Given the description of an element on the screen output the (x, y) to click on. 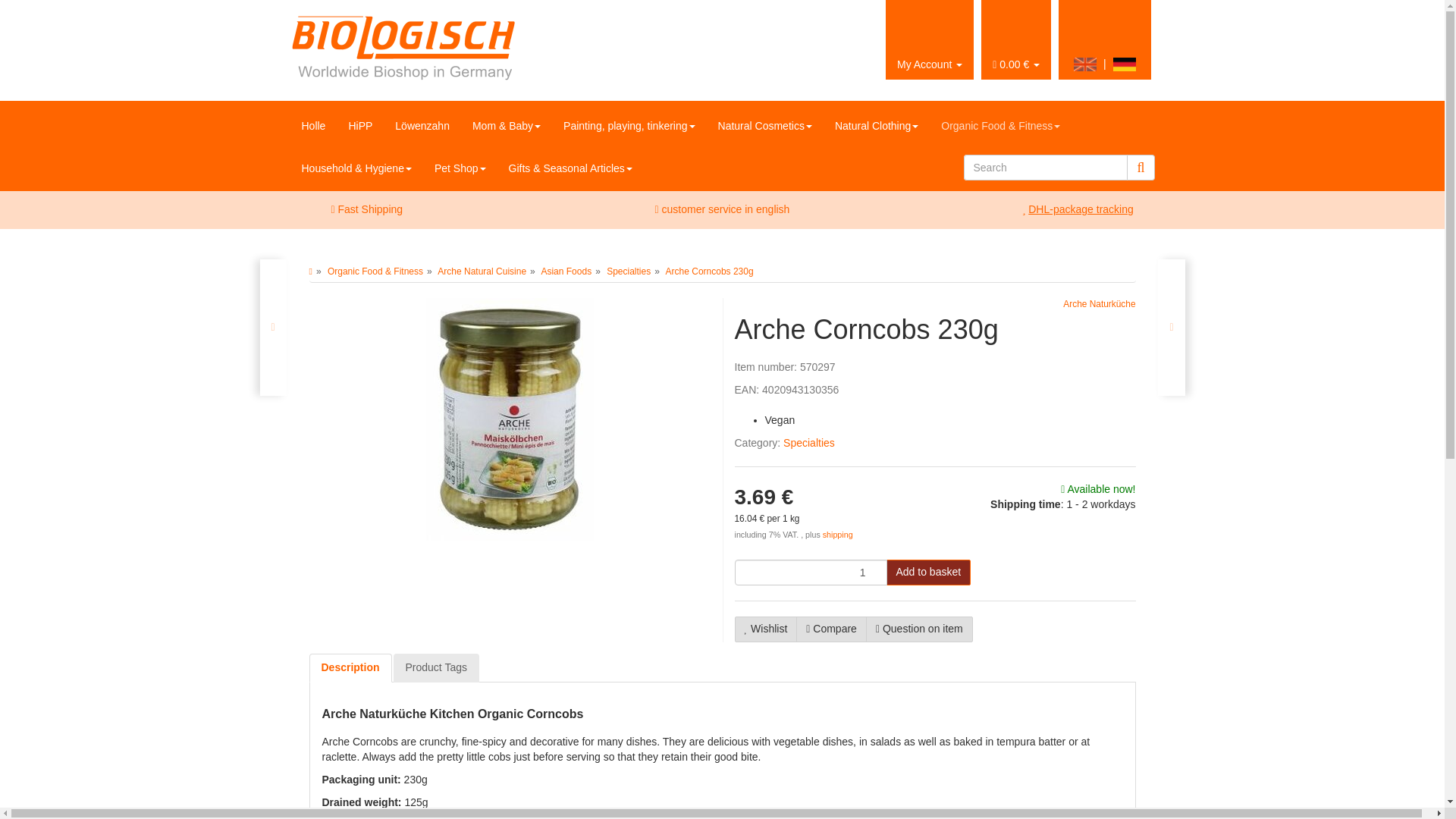
HiPP (360, 125)
Arche Tamari Cracker 80g (272, 327)
Arche Corncobs 230g (709, 271)
Asian Foods (565, 271)
1 (809, 572)
Arche Bamboo Shoots 350g (1171, 327)
Start (310, 271)
My Account (929, 39)
Basket (1016, 39)
Specialties (628, 271)
Biologisch24.com (499, 47)
Holle (312, 125)
Arche Natural Cuisine (481, 271)
